Given the description of an element on the screen output the (x, y) to click on. 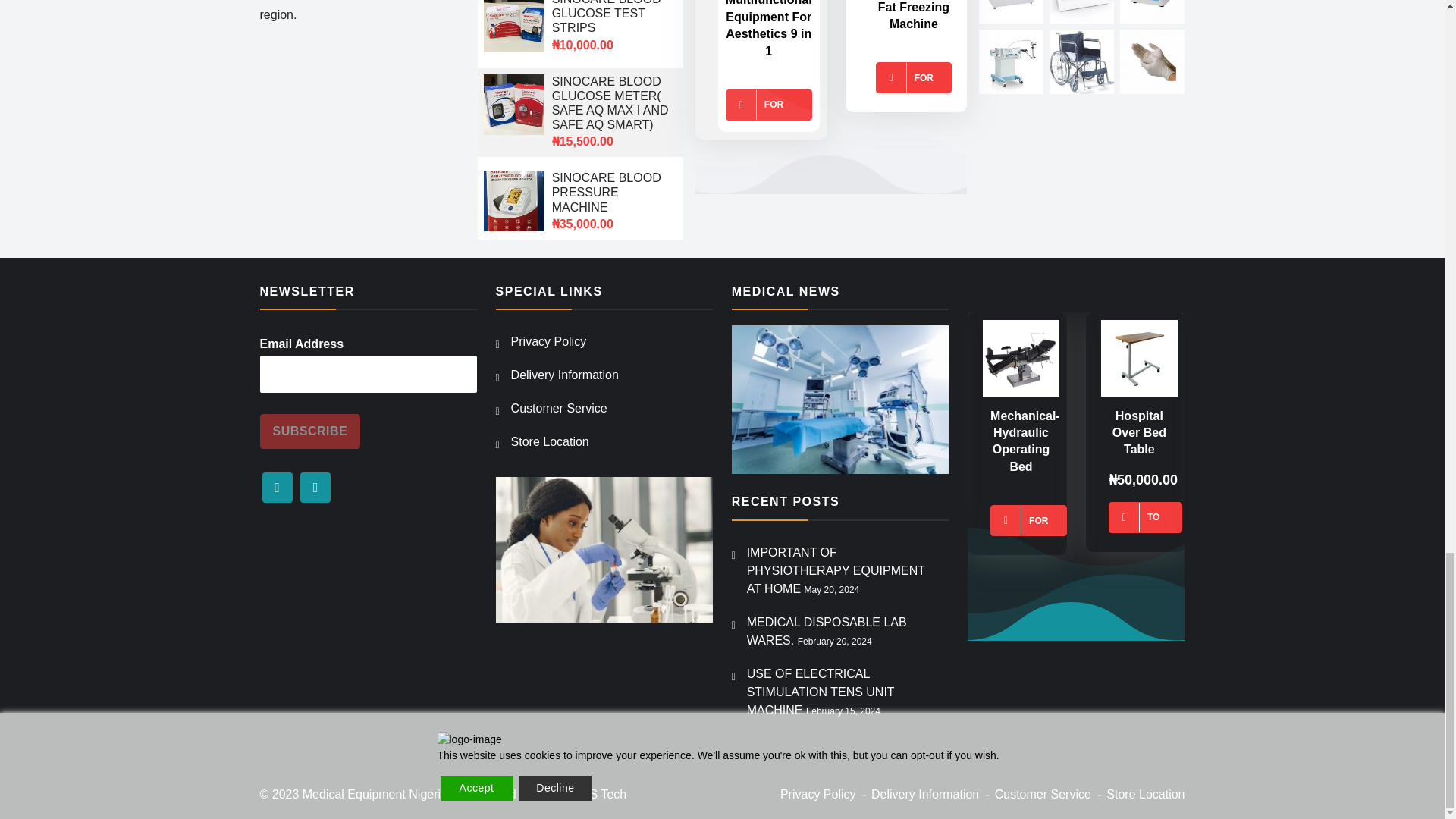
Facebook (277, 487)
Instagram (314, 487)
